Given the description of an element on the screen output the (x, y) to click on. 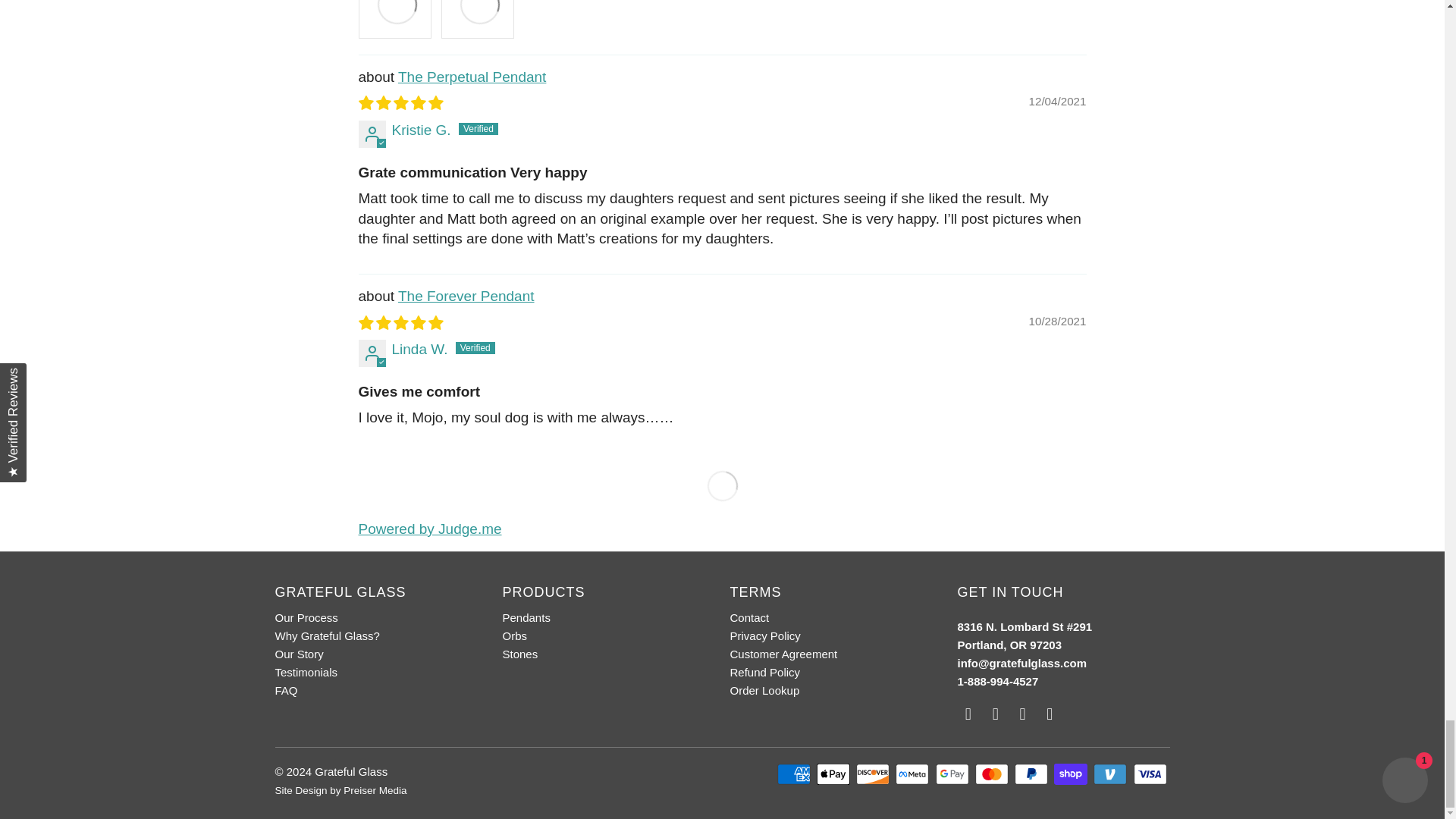
PayPal (1032, 773)
Shop Pay (1072, 773)
Meta Pay (913, 773)
Discover (874, 773)
tel:1-888-994-4527 (997, 680)
Visa (1150, 773)
Grateful Glass on Facebook (995, 713)
American Express (795, 773)
Grateful Glass on Twitter (967, 713)
Google Pay (954, 773)
Venmo (1111, 773)
Grateful Glass on Instagram (1022, 713)
Email Grateful Glass (1050, 713)
Mastercard (993, 773)
Apple Pay (834, 773)
